Given the description of an element on the screen output the (x, y) to click on. 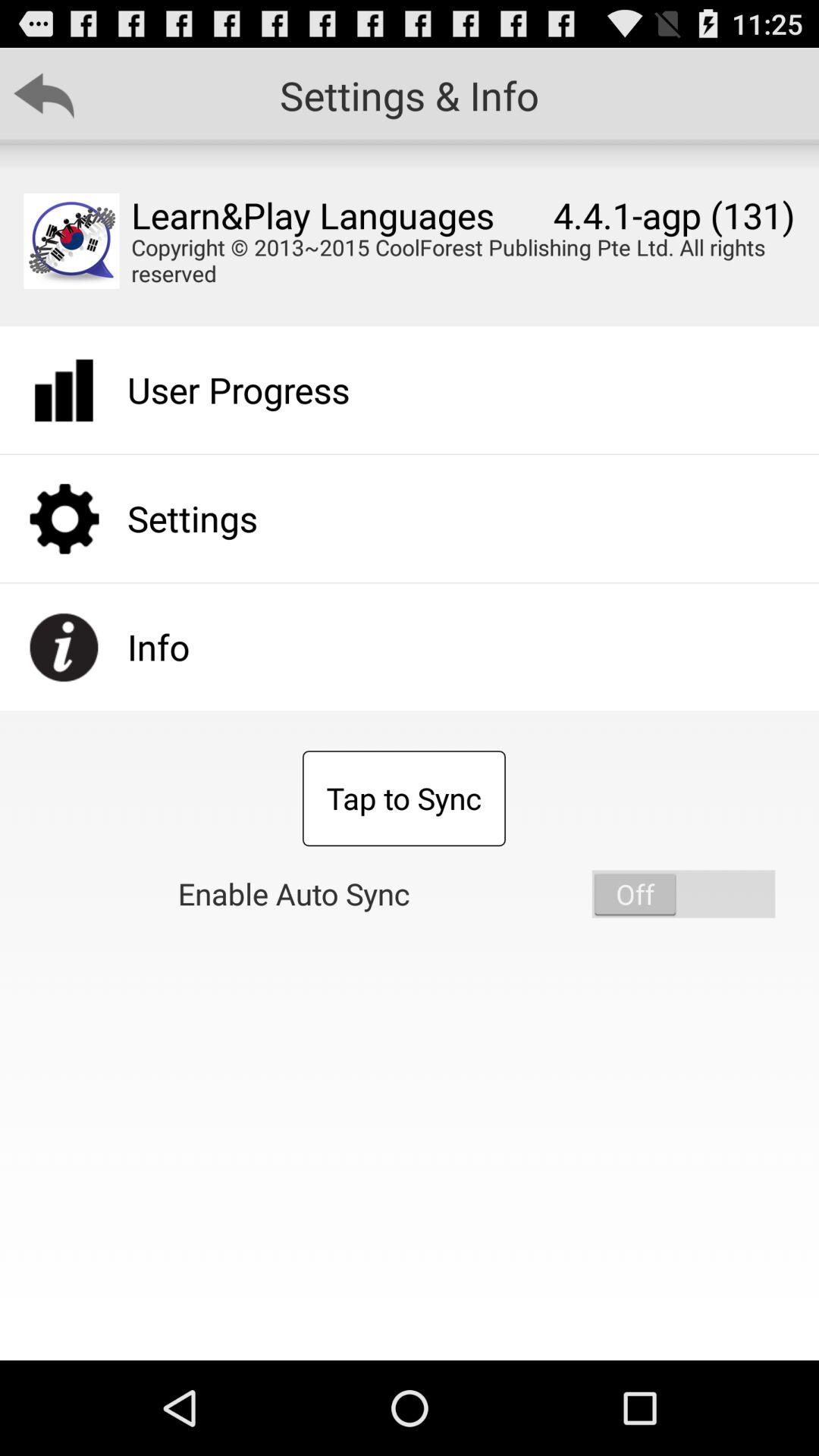
press the user progress app (238, 389)
